Given the description of an element on the screen output the (x, y) to click on. 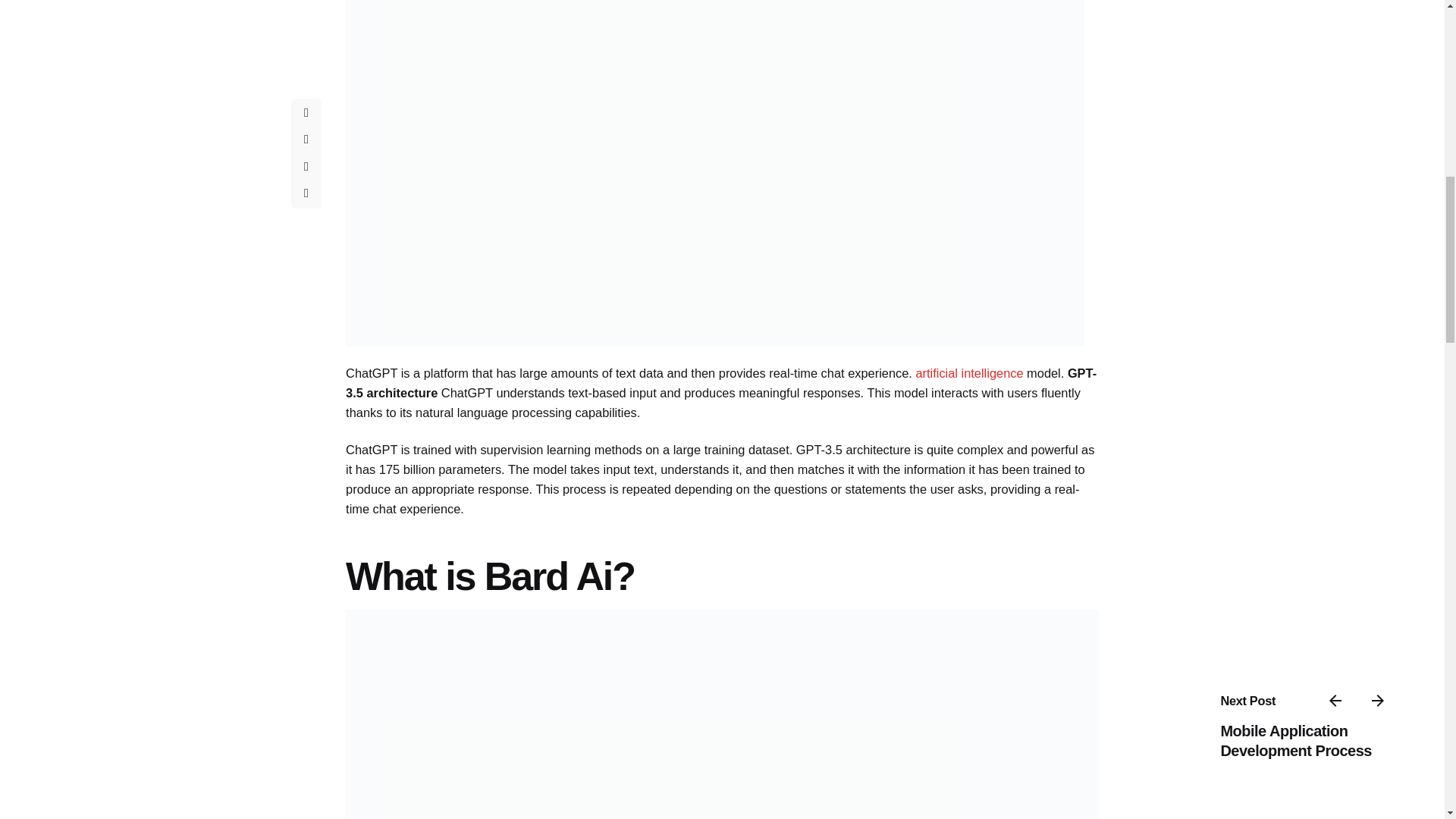
artificial intelligence (969, 373)
